Given the description of an element on the screen output the (x, y) to click on. 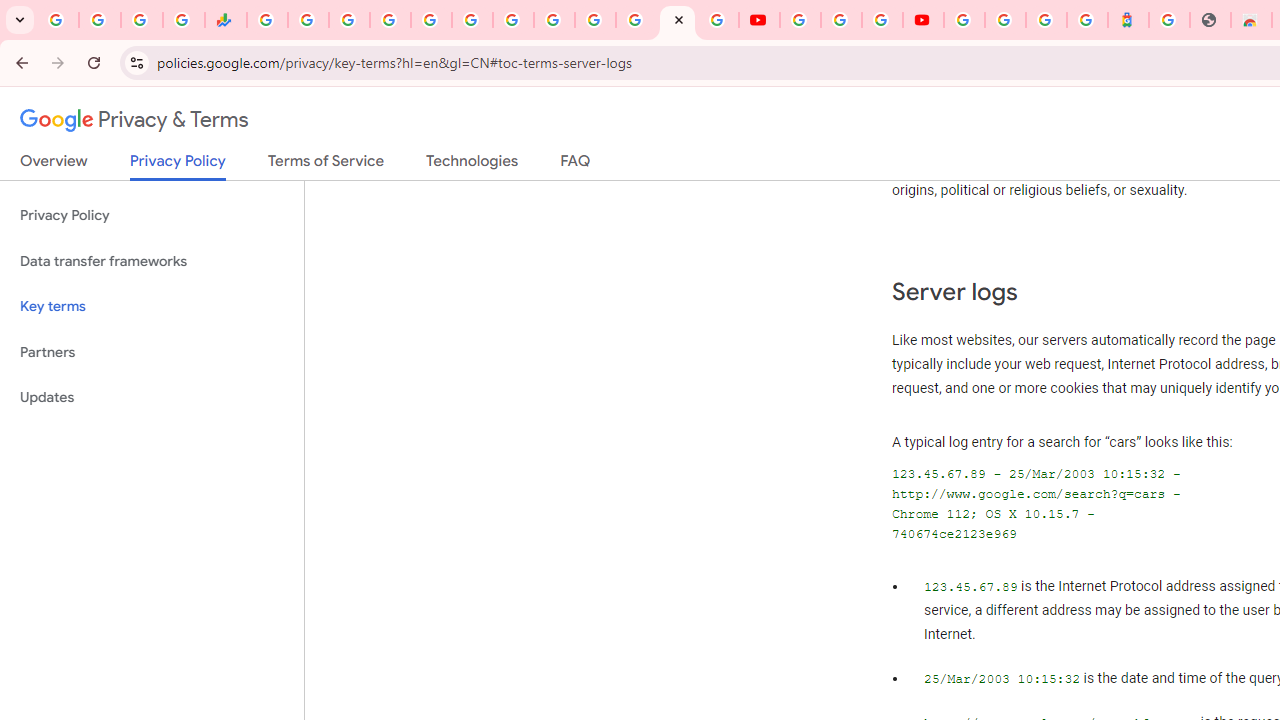
YouTube (553, 20)
Privacy Checkup (717, 20)
Sign in - Google Accounts (389, 20)
Sign in - Google Accounts (594, 20)
Atour Hotel - Google hotels (1128, 20)
Data transfer frameworks (152, 261)
YouTube (799, 20)
Google Account Help (840, 20)
